Given the description of an element on the screen output the (x, y) to click on. 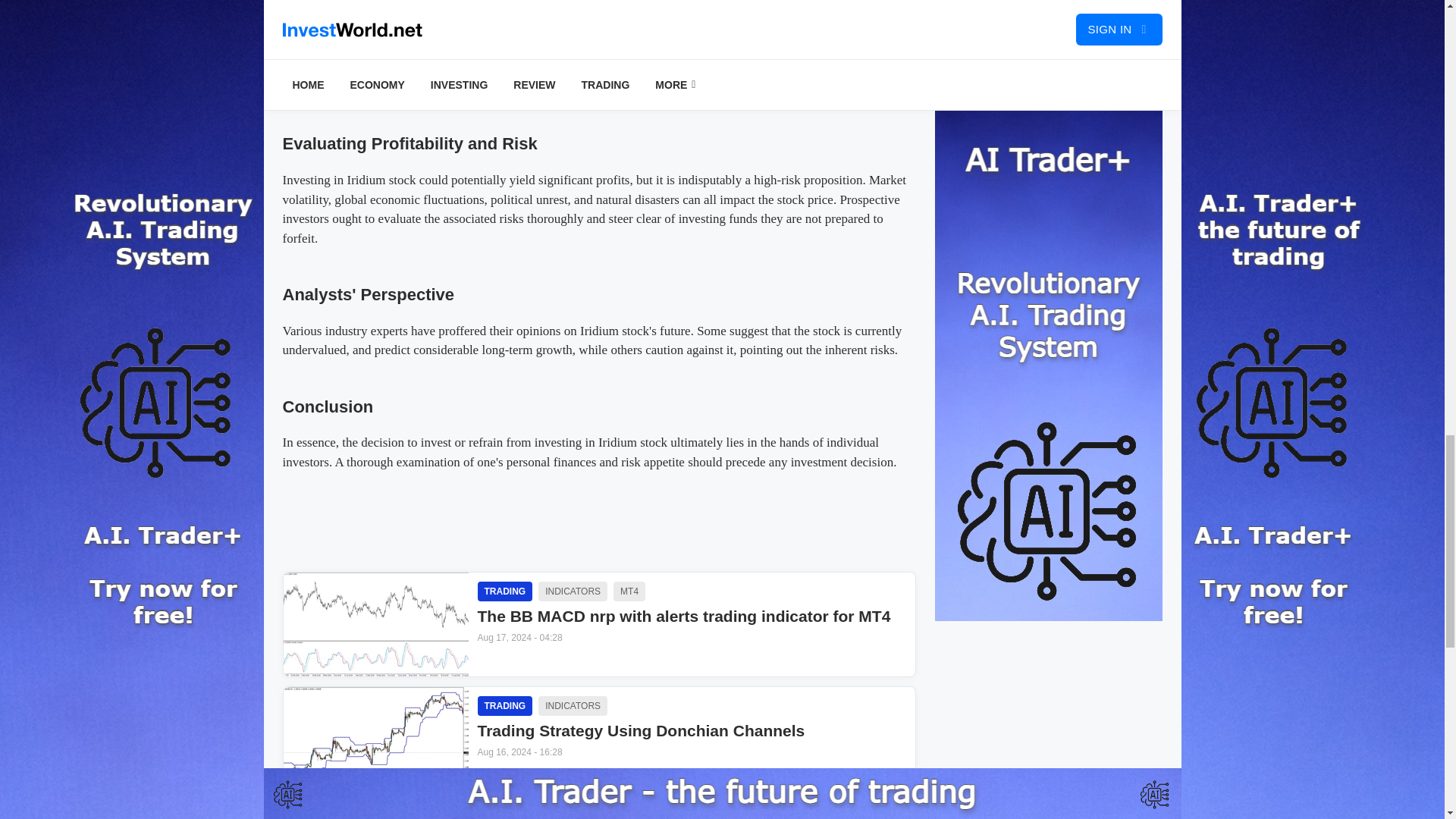
MT5 (628, 814)
MT4 (628, 591)
INDICATORS (572, 591)
INDICATORS (572, 814)
TRADING (504, 814)
TRADING (504, 591)
TRADING (504, 705)
INDICATORS (572, 705)
